Given the description of an element on the screen output the (x, y) to click on. 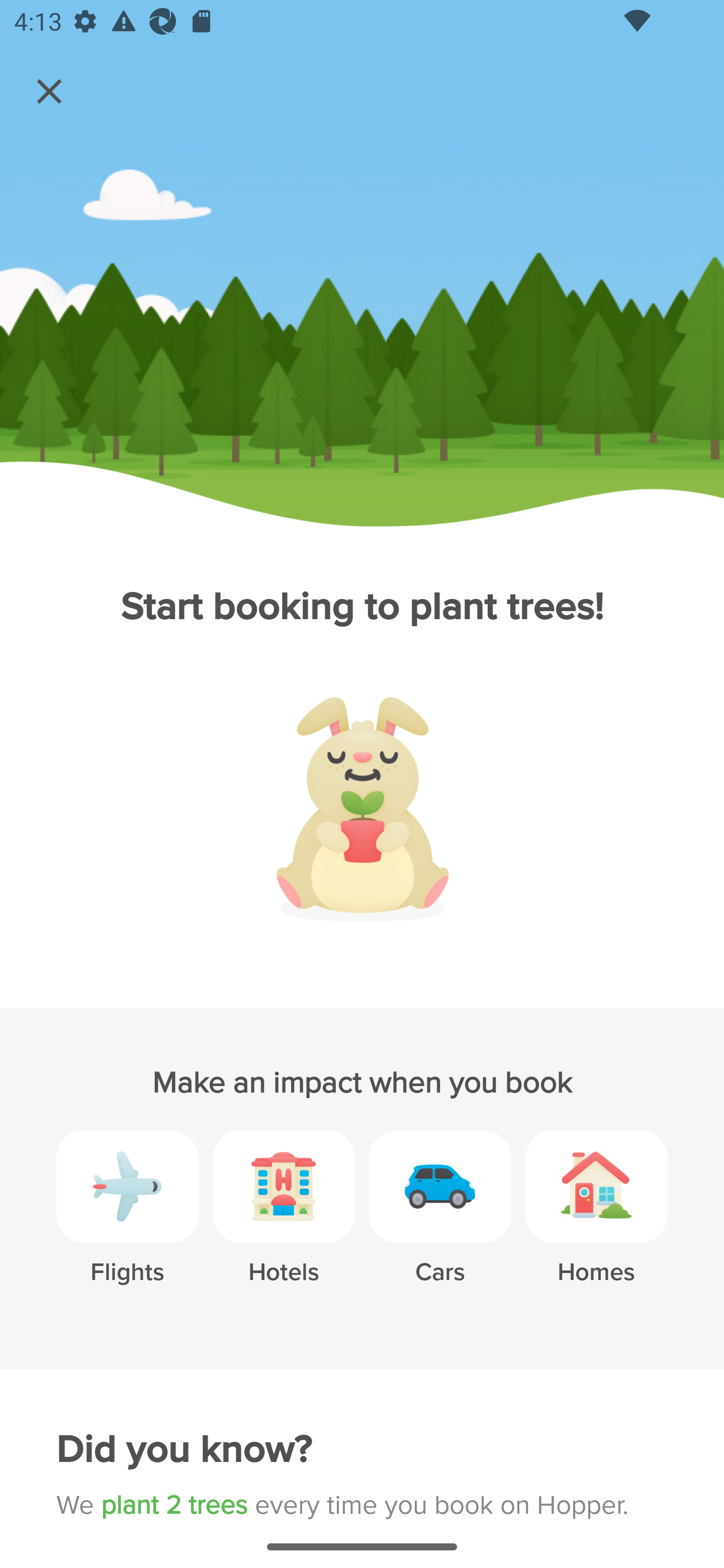
Navigate up (49, 91)
Flights (127, 1221)
Hotels (283, 1221)
Cars (440, 1221)
Homes (596, 1221)
